Given the description of an element on the screen output the (x, y) to click on. 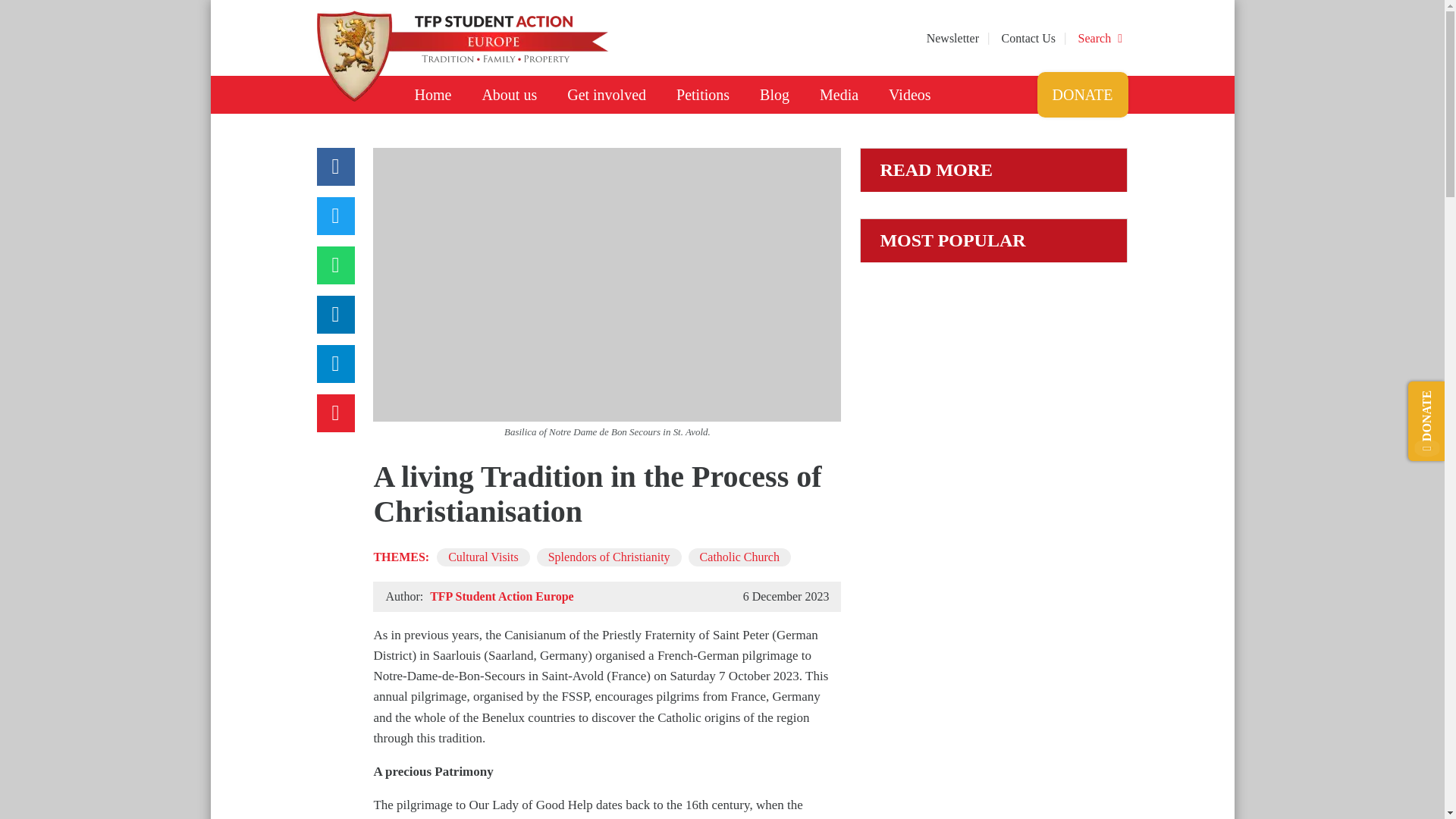
Blog (774, 94)
Home (431, 94)
Search (1101, 38)
Videos (908, 94)
Get involved (606, 94)
Newsletter (953, 38)
Contact Us (1030, 38)
DONATE (1082, 94)
Petitions (702, 94)
About us (508, 94)
Media (839, 94)
